Given the description of an element on the screen output the (x, y) to click on. 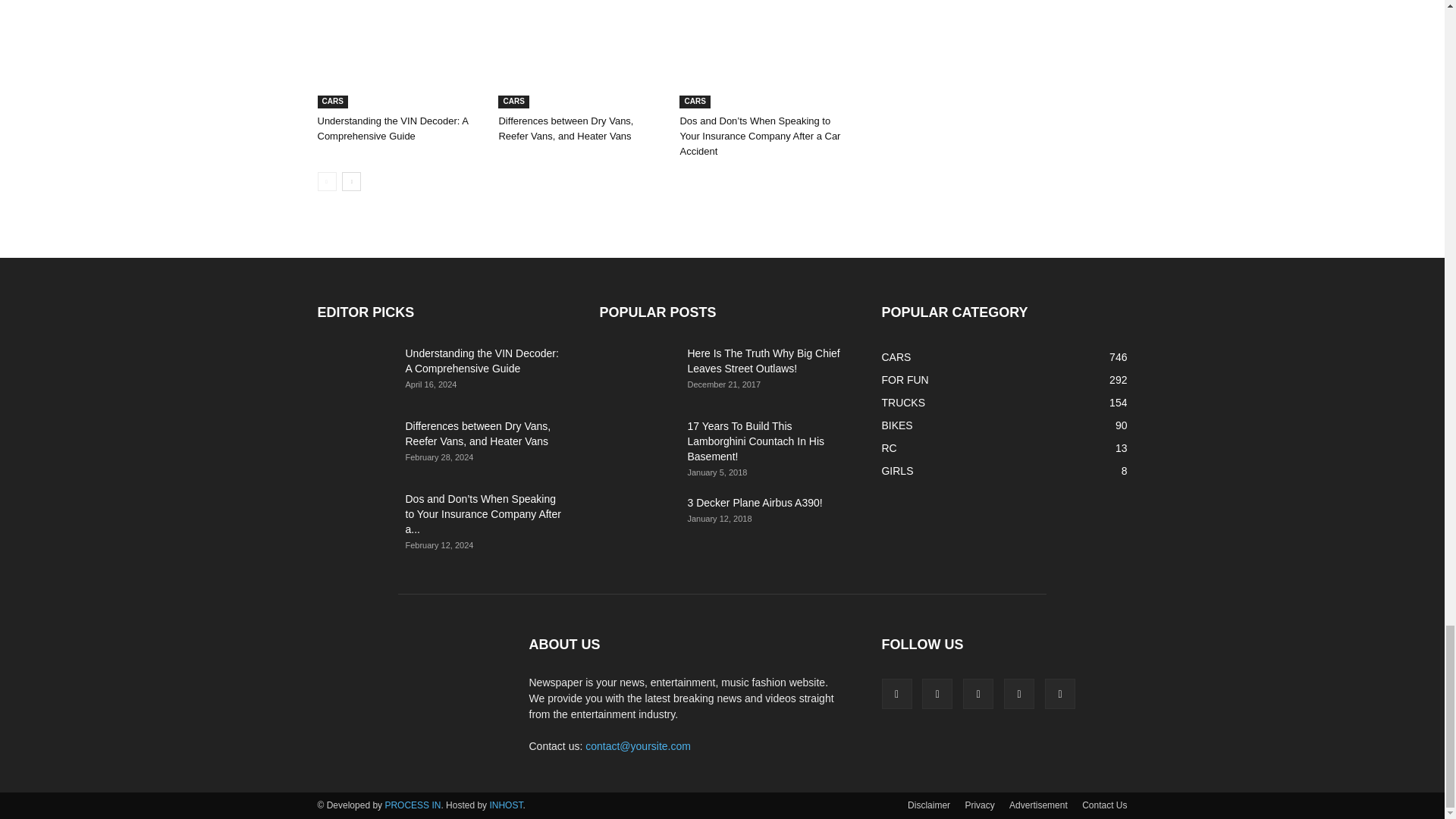
Understanding the VIN Decoder: A Comprehensive Guide (399, 54)
Understanding the VIN Decoder: A Comprehensive Guide (392, 128)
Differences between Dry Vans, Reefer Vans, and Heater Vans (580, 54)
